Given the description of an element on the screen output the (x, y) to click on. 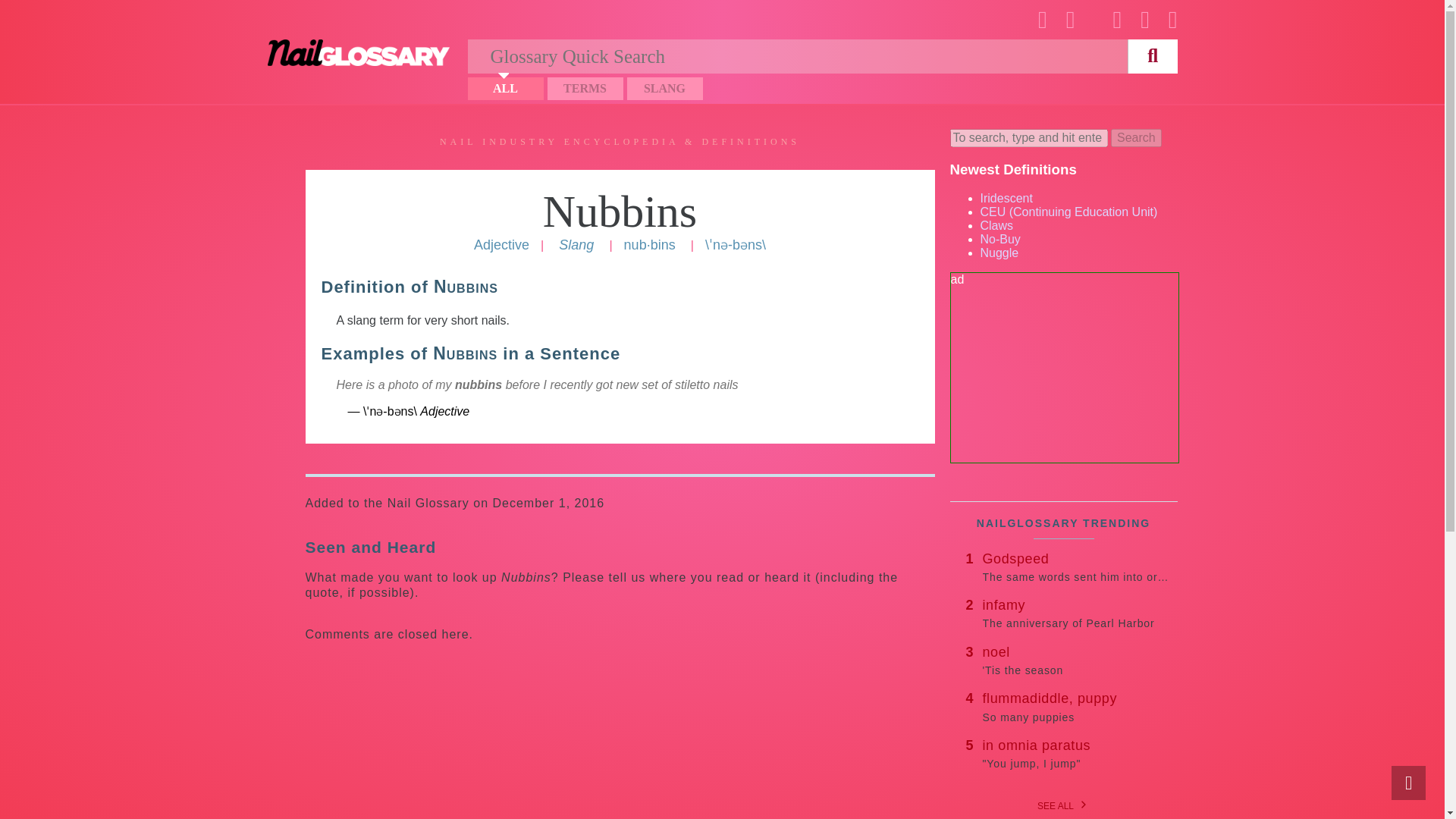
Claws (996, 225)
TERMS (585, 87)
ALL (505, 87)
Nail Glossary by NailMOB (357, 52)
Back to Top (1408, 782)
Nubbins (620, 211)
Nubbins (1077, 567)
NAILGLOSSARY TRENDING (1077, 613)
Iridescent (620, 211)
